Given the description of an element on the screen output the (x, y) to click on. 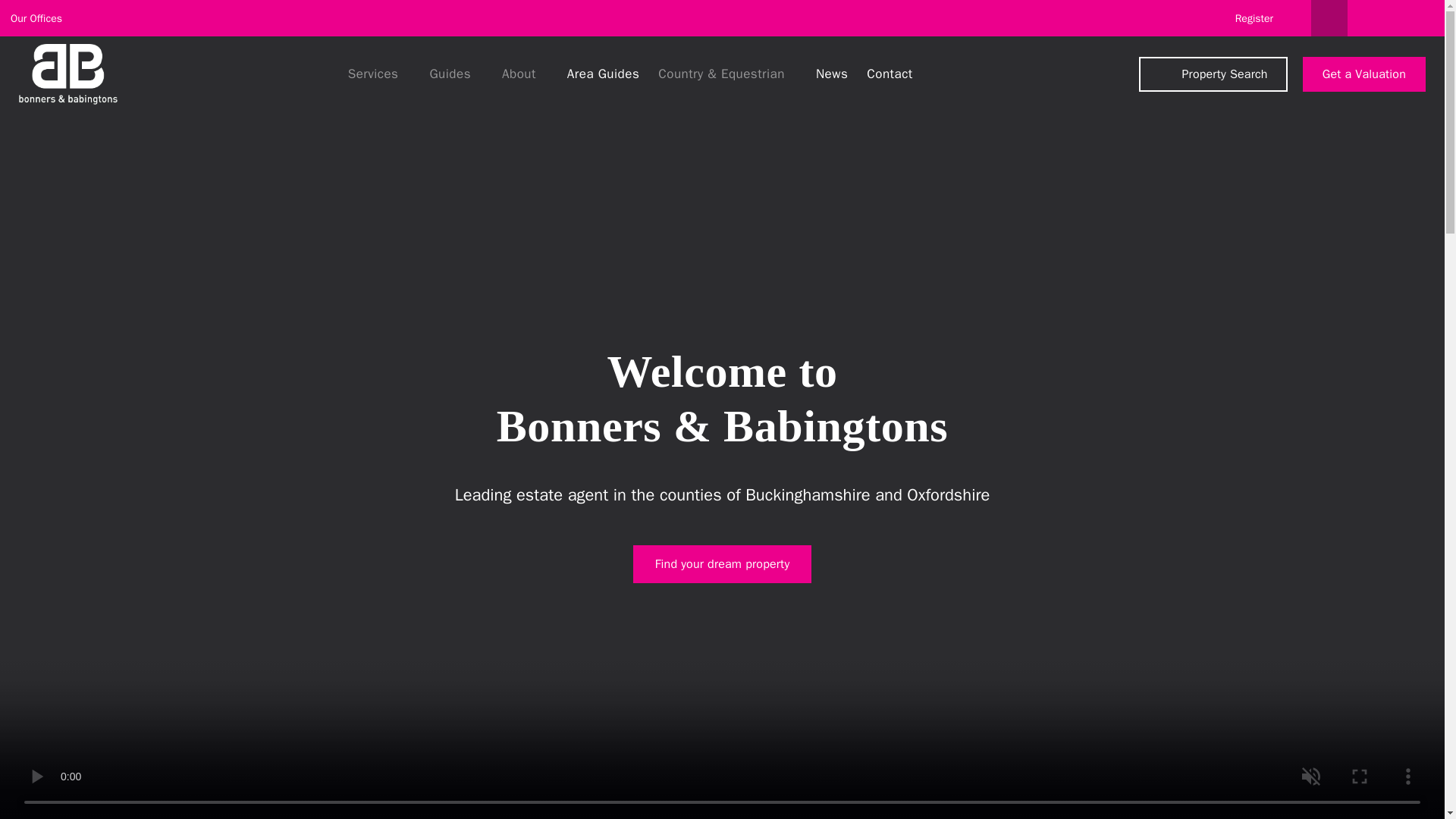
About (523, 73)
Contact (887, 73)
News (830, 73)
Our Offices (43, 18)
Area Guides (601, 73)
Property Search (1212, 73)
Guides (454, 73)
Get a Valuation (1364, 73)
Services (378, 73)
Register (1253, 18)
